Given the description of an element on the screen output the (x, y) to click on. 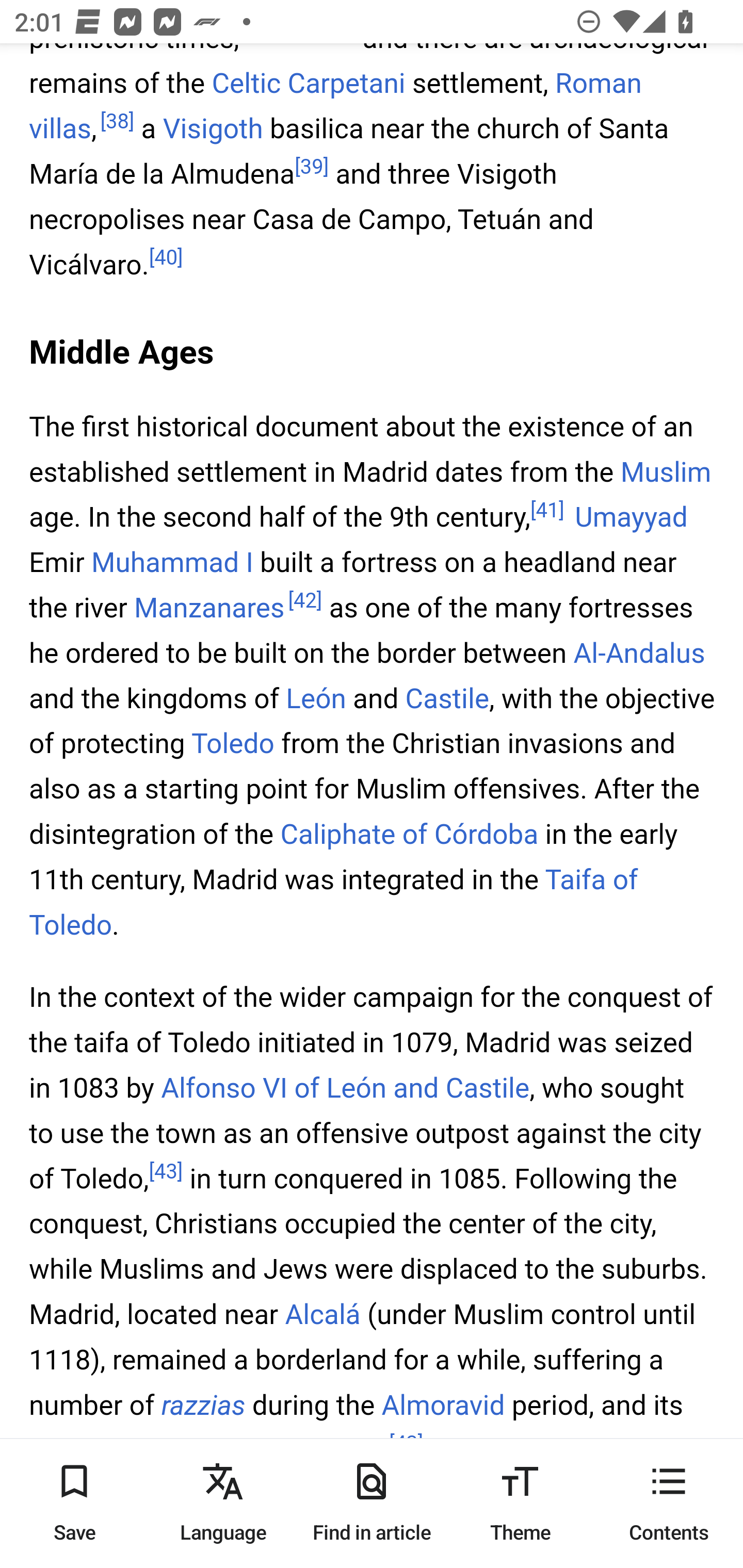
Roman villas (335, 105)
Celtic (246, 82)
Carpetani (346, 82)
[] [ 38 ] (116, 121)
Visigoth (212, 128)
[] [ 39 ] (311, 167)
[] [ 40 ] (165, 258)
Muslim (665, 471)
[] [ 41 ] (546, 510)
Umayyad (631, 518)
Muhammad I (172, 564)
[] [ 42 ] (304, 601)
Manzanares (209, 608)
Al-Andalus (638, 653)
León (315, 699)
Castile (447, 699)
Toledo (231, 744)
Caliphate of Córdoba (409, 833)
Taifa of Toledo (333, 902)
Alfonso VI of León and Castile (345, 1089)
[] [ 43 ] (165, 1171)
Alcalá (322, 1315)
razzias (202, 1404)
Almoravid (442, 1404)
Save (74, 1502)
Language (222, 1502)
Find in article (371, 1502)
Theme (519, 1502)
Contents (668, 1502)
